Given the description of an element on the screen output the (x, y) to click on. 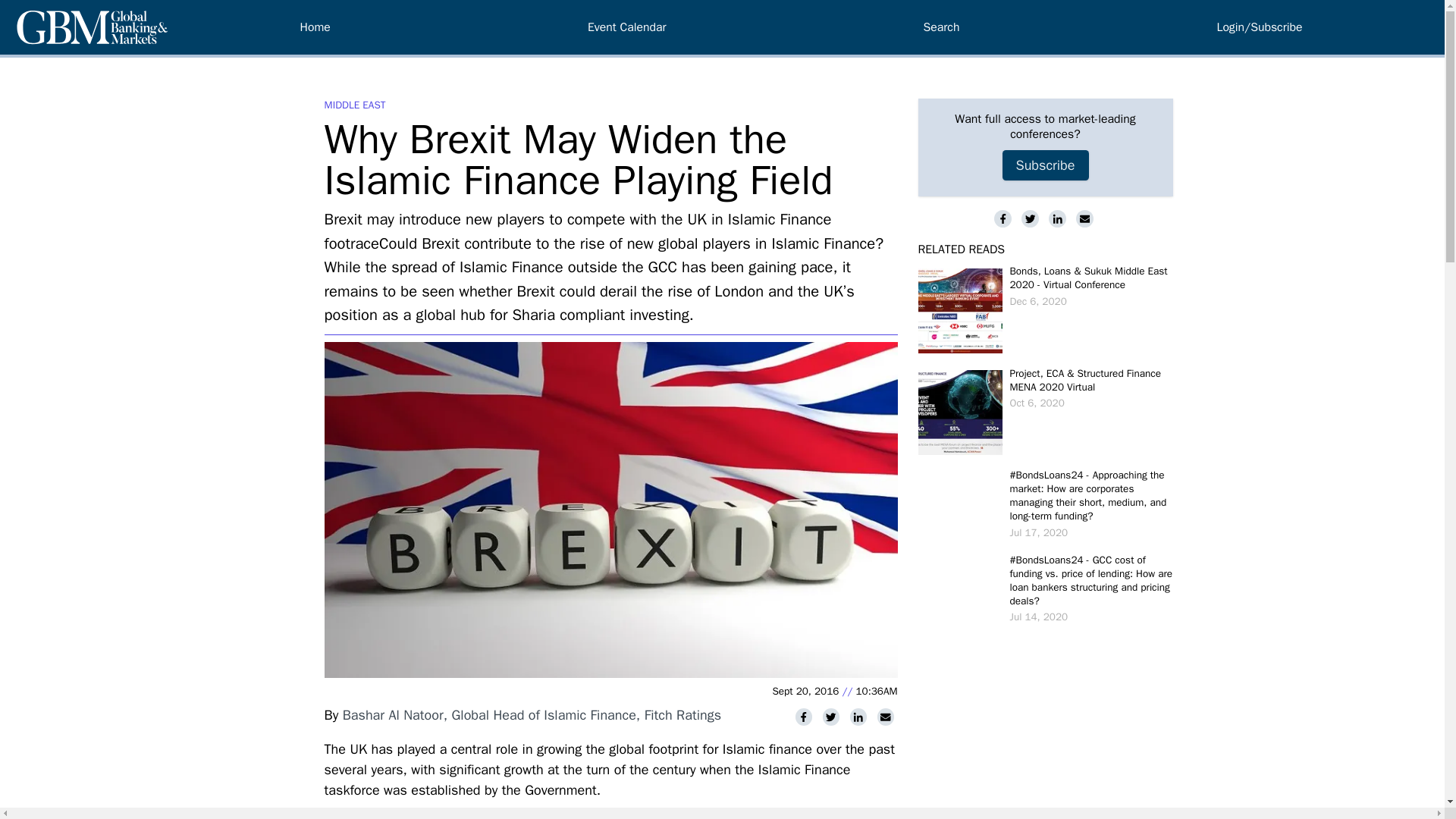
Event Calendar (626, 26)
Home (314, 26)
Home (314, 26)
MIDDLE EAST (354, 104)
Share this article on LinkedIn (1058, 218)
Share this article on Facebook (1004, 218)
Share this article on Facebook (804, 716)
Email a link to this article (1085, 218)
Subscribe (1046, 164)
